Given the description of an element on the screen output the (x, y) to click on. 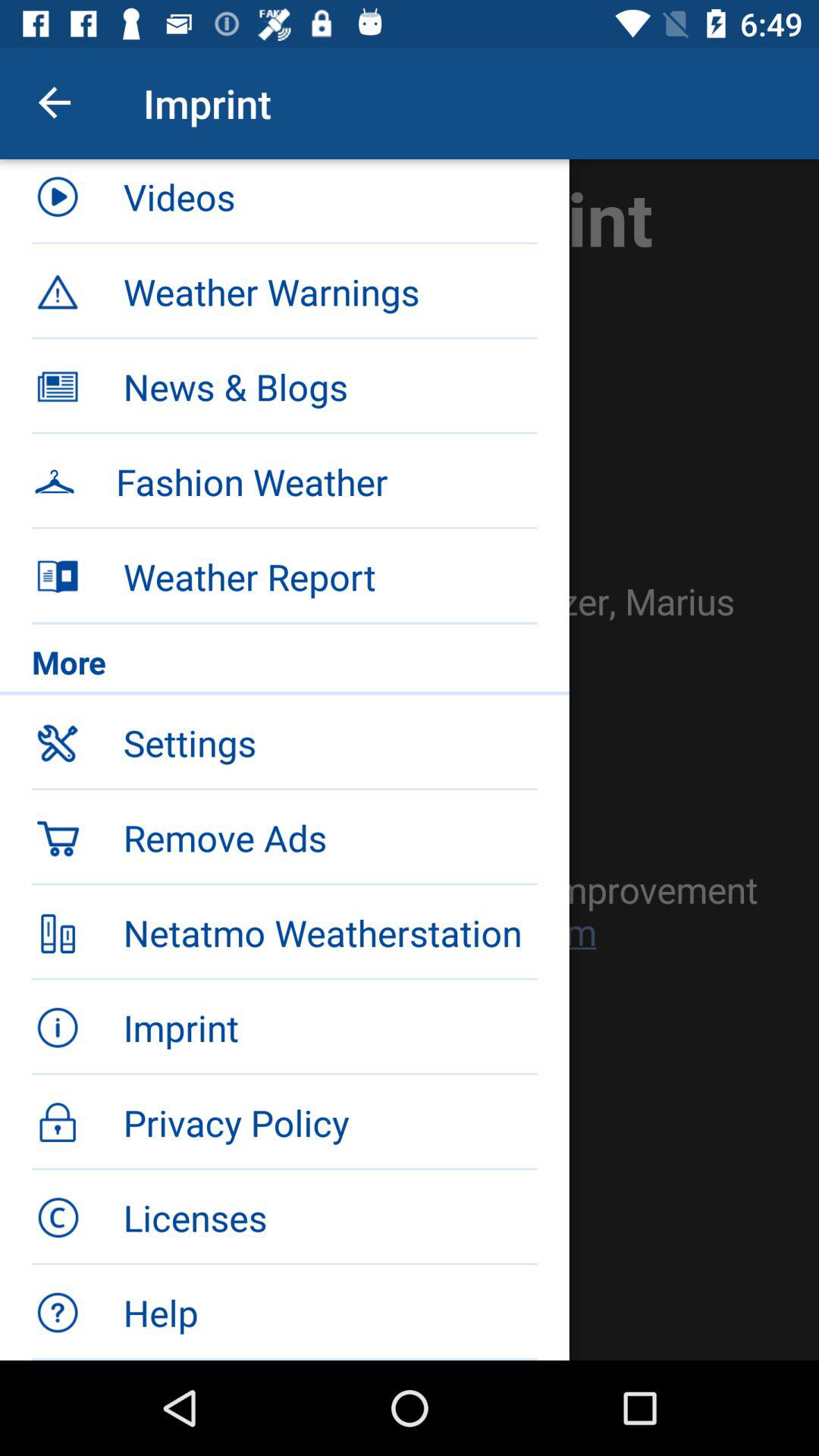
scroll to the fashion weather item (326, 481)
